Given the description of an element on the screen output the (x, y) to click on. 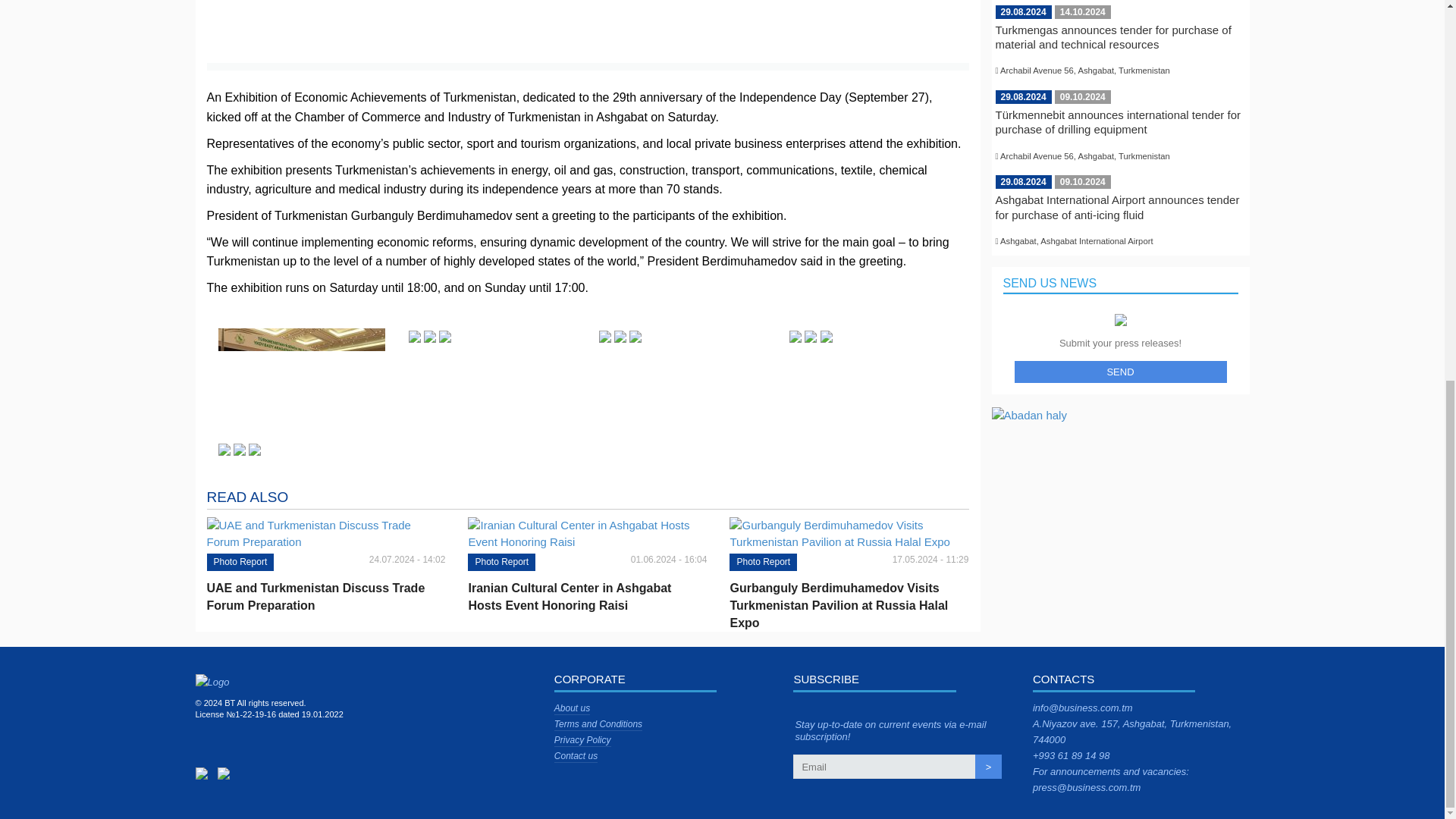
UAE and Turkmenistan Discuss Trade Forum Preparation (325, 596)
UAE and Turkmenistan Discuss Trade Forum Preparation (325, 596)
Photo Report (239, 561)
